Given the description of an element on the screen output the (x, y) to click on. 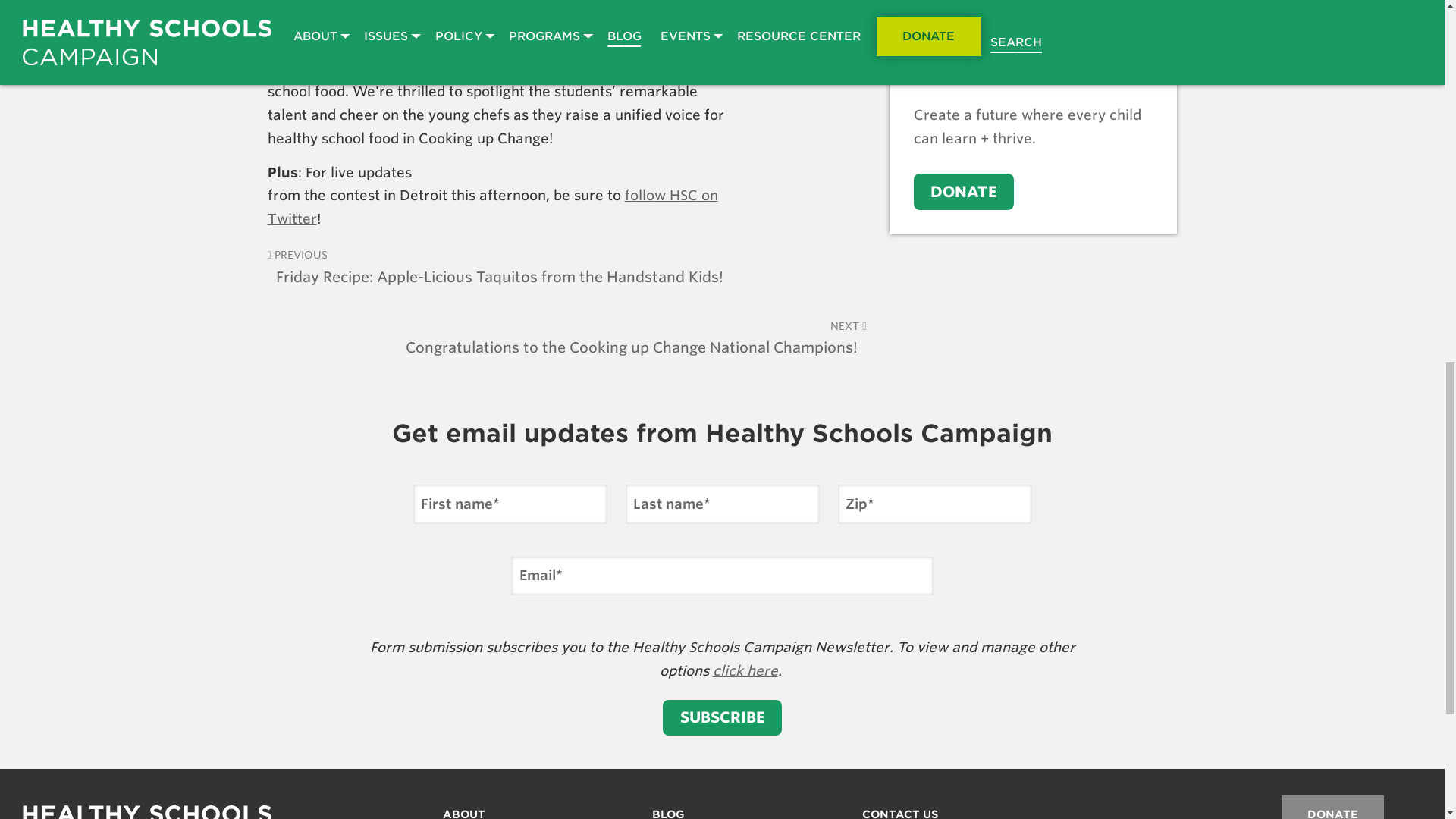
Healthy Schools Campaign (146, 812)
First name  (509, 504)
Last name  (721, 504)
Zip  (933, 504)
Subscribe (721, 718)
Email  (722, 576)
